Given the description of an element on the screen output the (x, y) to click on. 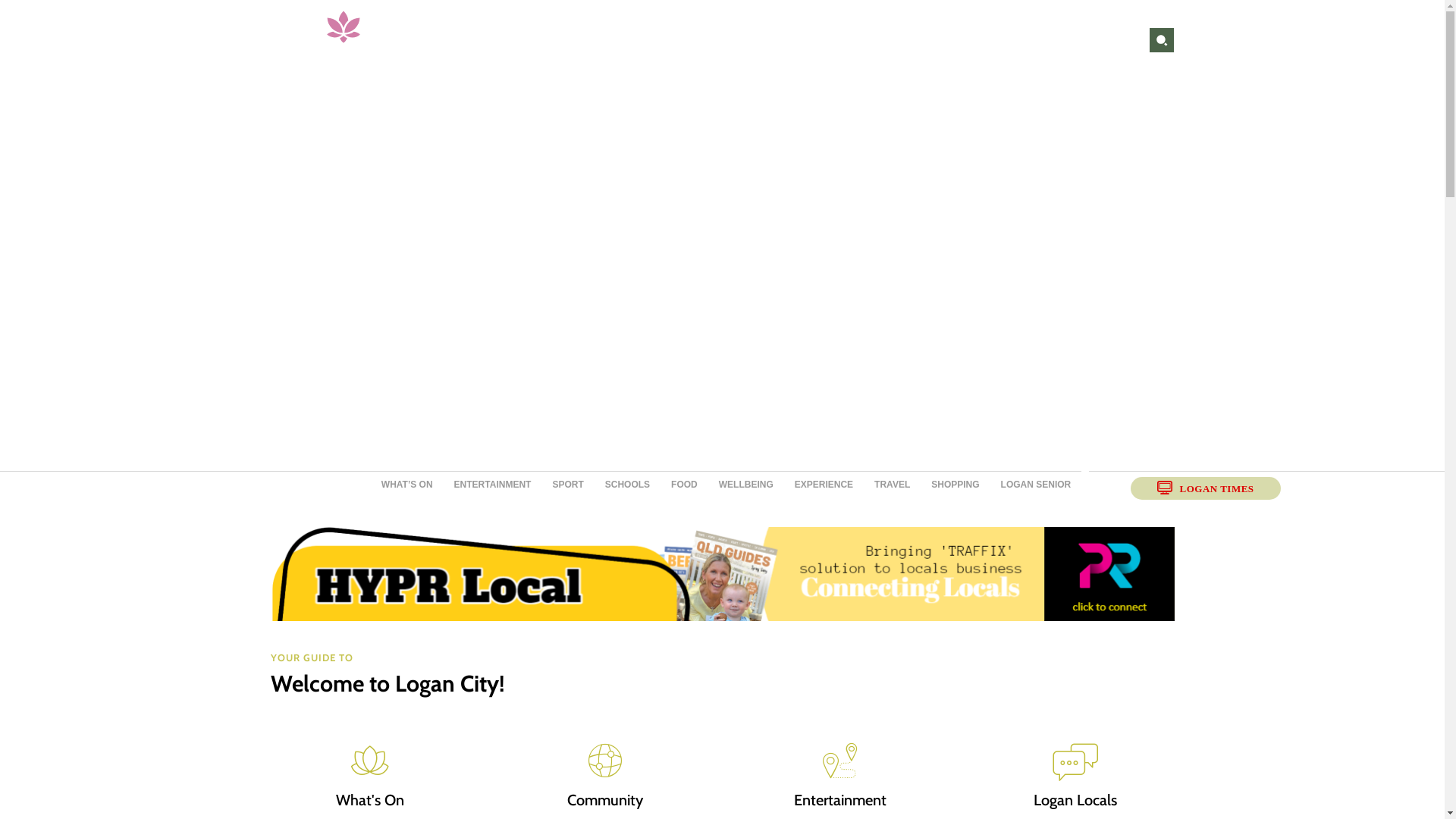
EXPERIENCE Element type: text (823, 484)
TRAVEL Element type: text (891, 484)
LOGAN SENIOR Element type: text (1036, 484)
WELLBEING Element type: text (746, 484)
LOGAN TIMES Element type: text (1205, 487)
SCHOOLS Element type: text (627, 484)
ENTERTAINMENT Element type: text (492, 484)
Logan City Element type: text (342, 39)
GALLERY Element type: text (856, 39)
Facebook Element type: hover (1098, 39)
SPORT Element type: text (567, 484)
FOOD Element type: text (684, 484)
CONTACT Element type: text (926, 39)
Instagram Element type: hover (1122, 39)
SHOPPING Element type: text (954, 484)
